Given the description of an element on the screen output the (x, y) to click on. 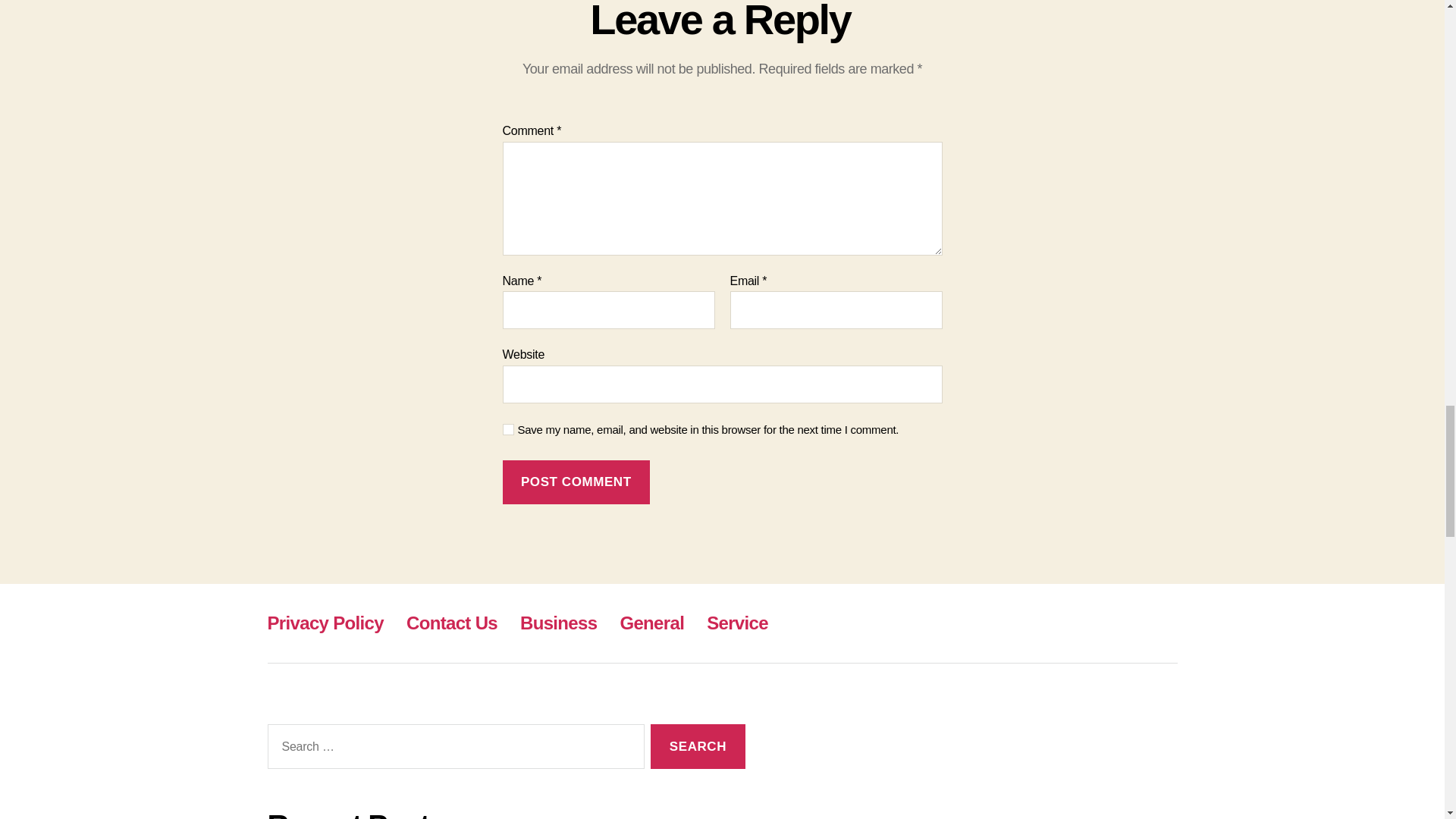
Service (737, 622)
Search (697, 746)
Contact Us (451, 622)
Post Comment (575, 482)
Search (697, 746)
Privacy Policy (324, 622)
Post Comment (575, 482)
Business (557, 622)
Search (697, 746)
General (652, 622)
